Given the description of an element on the screen output the (x, y) to click on. 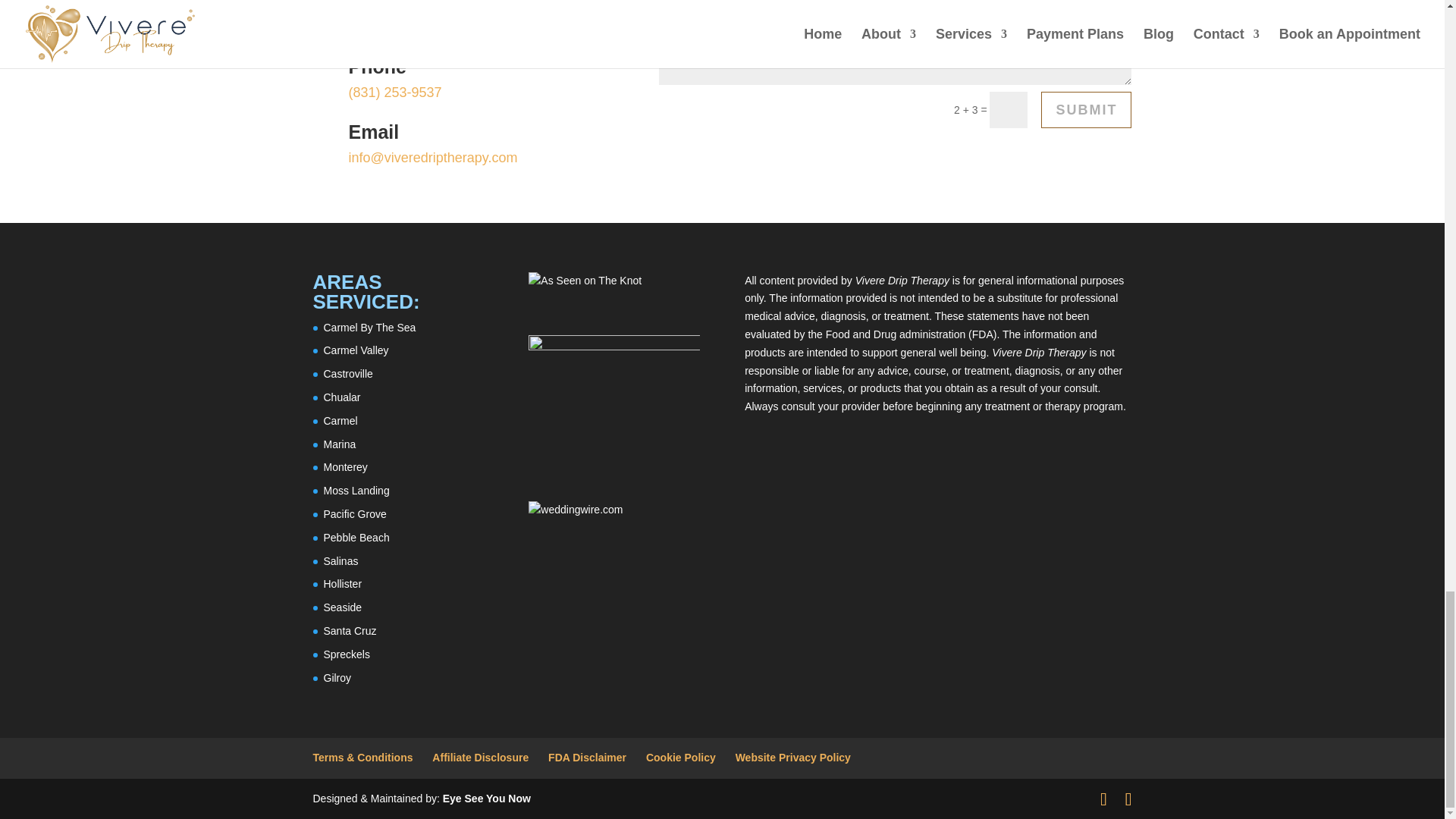
Cookie Policy (681, 757)
Eye See You Now (486, 798)
SUBMIT (1086, 109)
Affiliate Disclosure (480, 757)
Page 1 (480, 157)
Website Privacy Policy (792, 757)
FDA Disclaimer (587, 757)
weddingwire.com (575, 509)
